Given the description of an element on the screen output the (x, y) to click on. 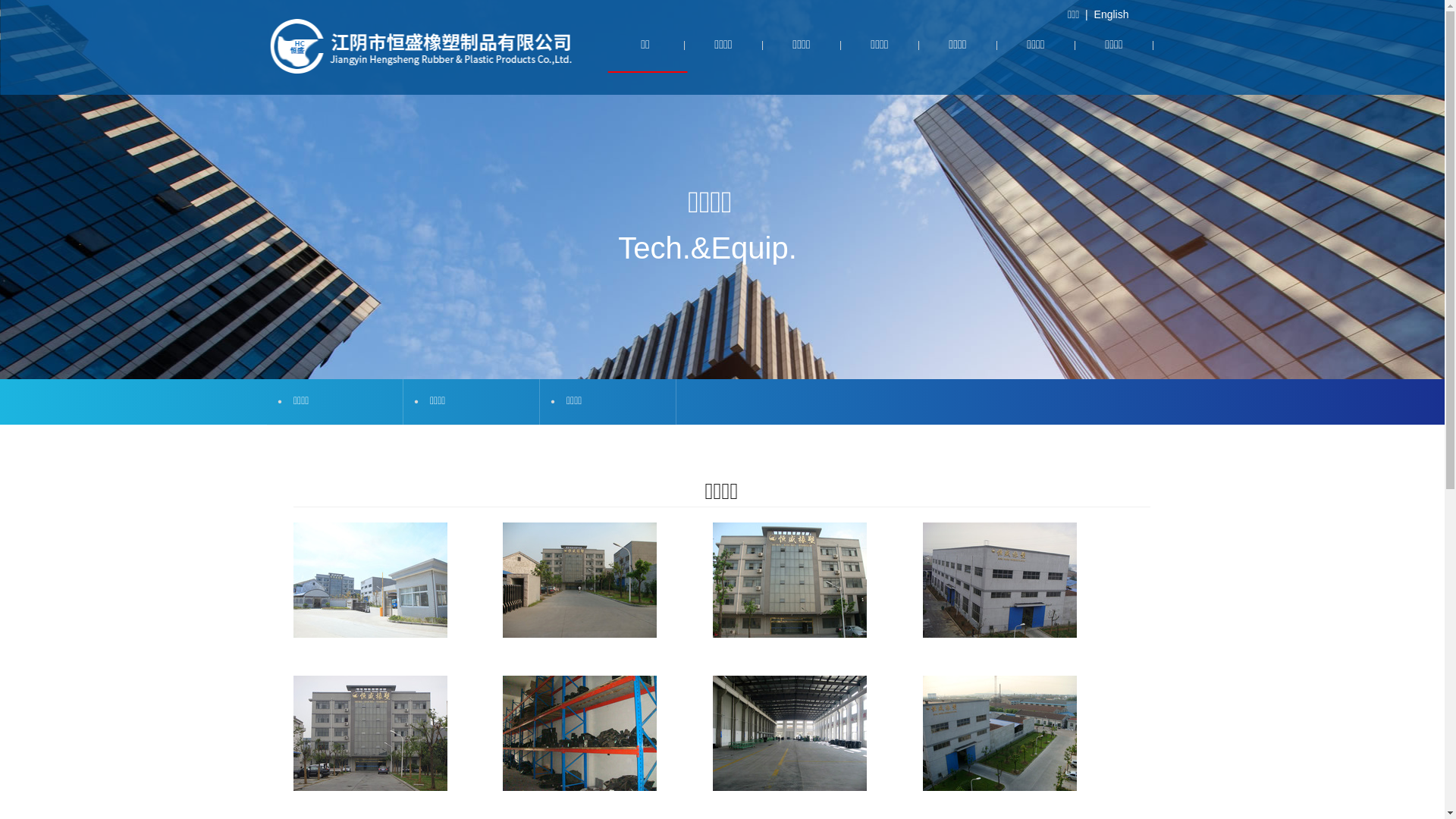
English Element type: text (1111, 14)
